Given the description of an element on the screen output the (x, y) to click on. 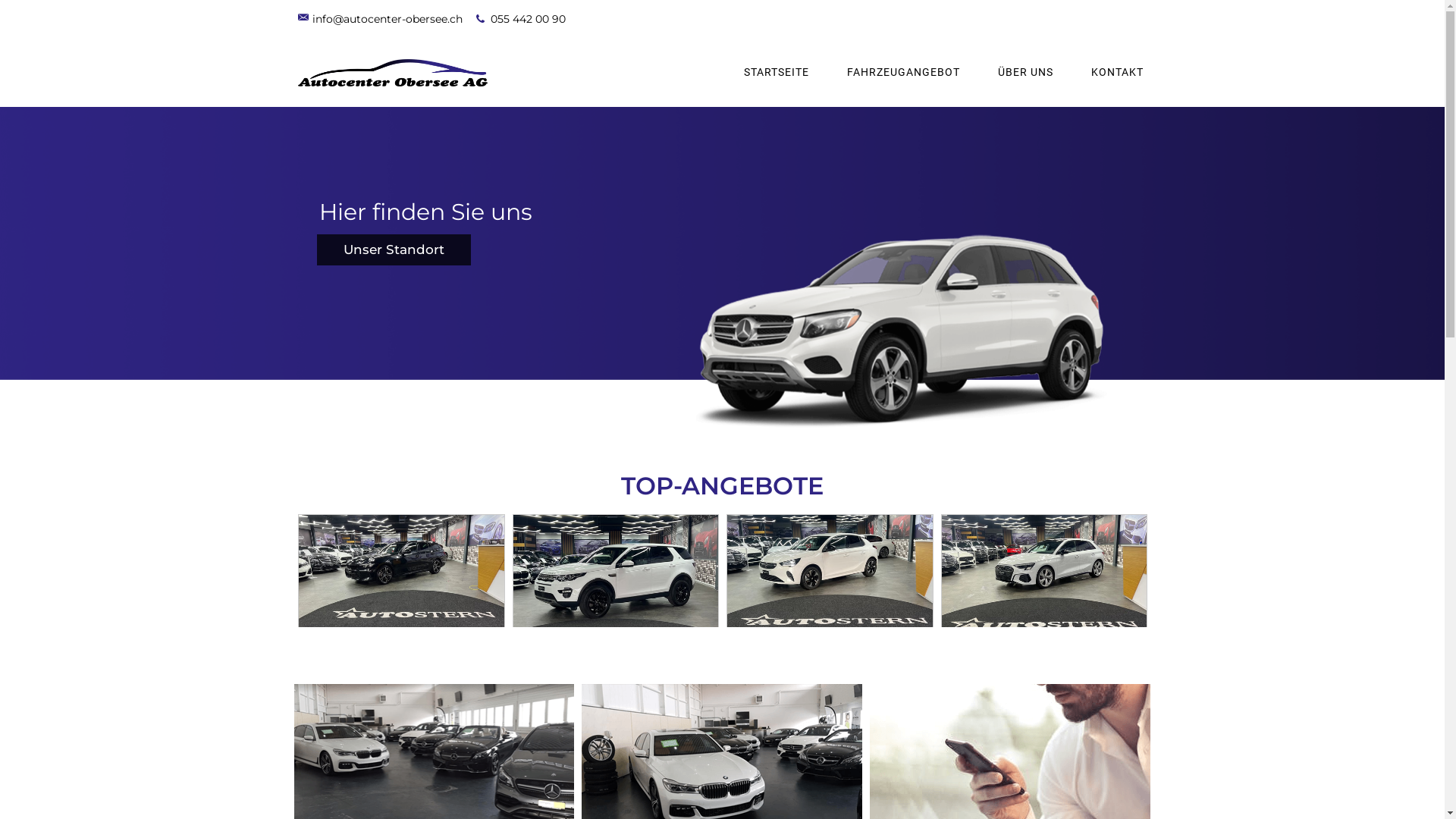
KONTAKT Element type: text (1117, 72)
FAHRZEUGANGEBOT Element type: text (903, 72)
055 442 00 90 Element type: text (520, 18)
info@autocenter-obersee.ch Element type: text (379, 18)
STARTSEITE Element type: text (776, 72)
